Given the description of an element on the screen output the (x, y) to click on. 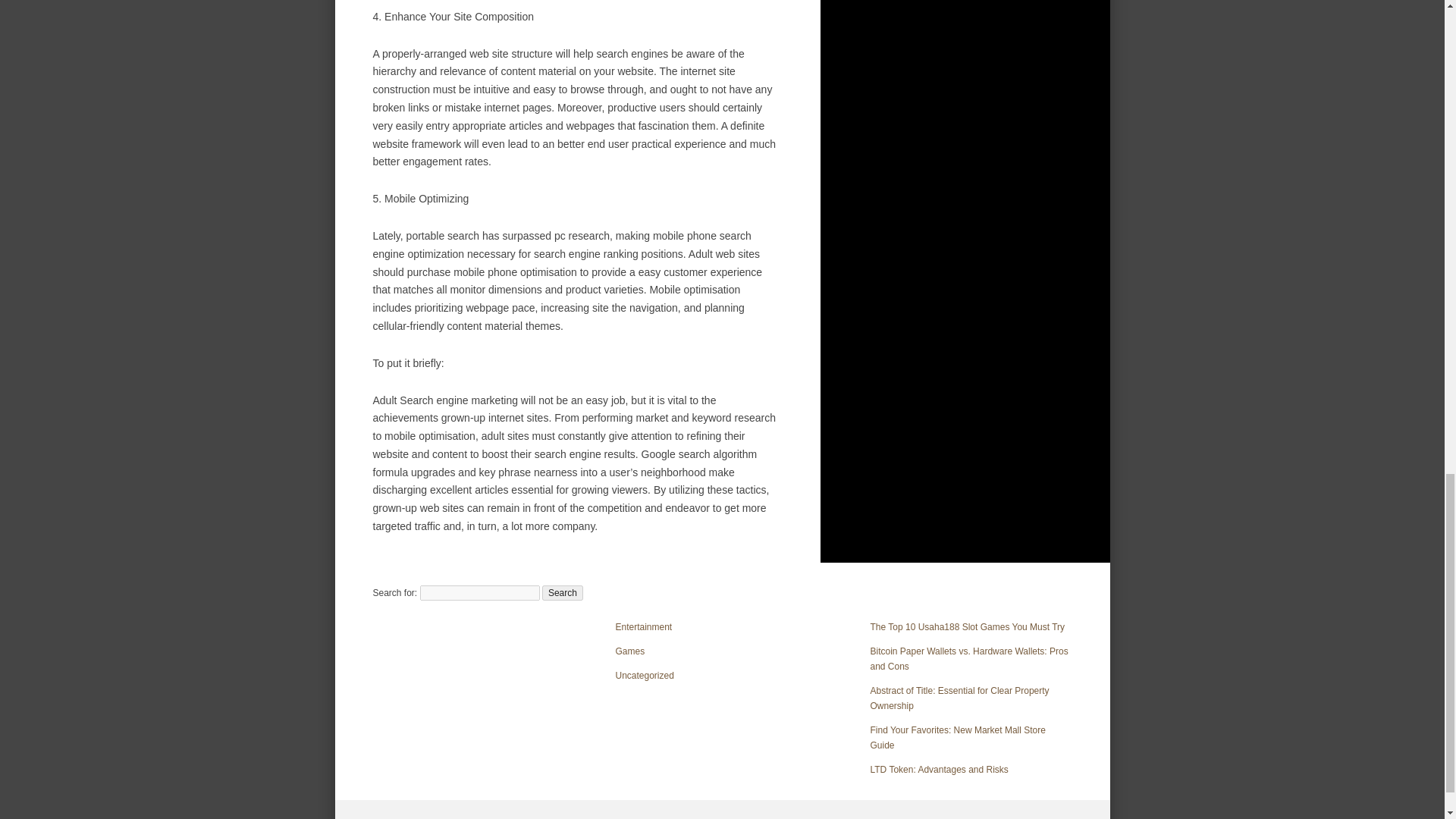
Games (630, 651)
Entertainment (643, 626)
The Top 10 Usaha188 Slot Games You Must Try (967, 626)
Uncategorized (644, 675)
Find Your Favorites: New Market Mall Store Guide (957, 737)
Search (562, 592)
Abstract of Title: Essential for Clear Property Ownership (959, 698)
LTD Token: Advantages and Risks (939, 769)
Bitcoin Paper Wallets vs. Hardware Wallets: Pros and Cons (969, 658)
Search (562, 592)
